Given the description of an element on the screen output the (x, y) to click on. 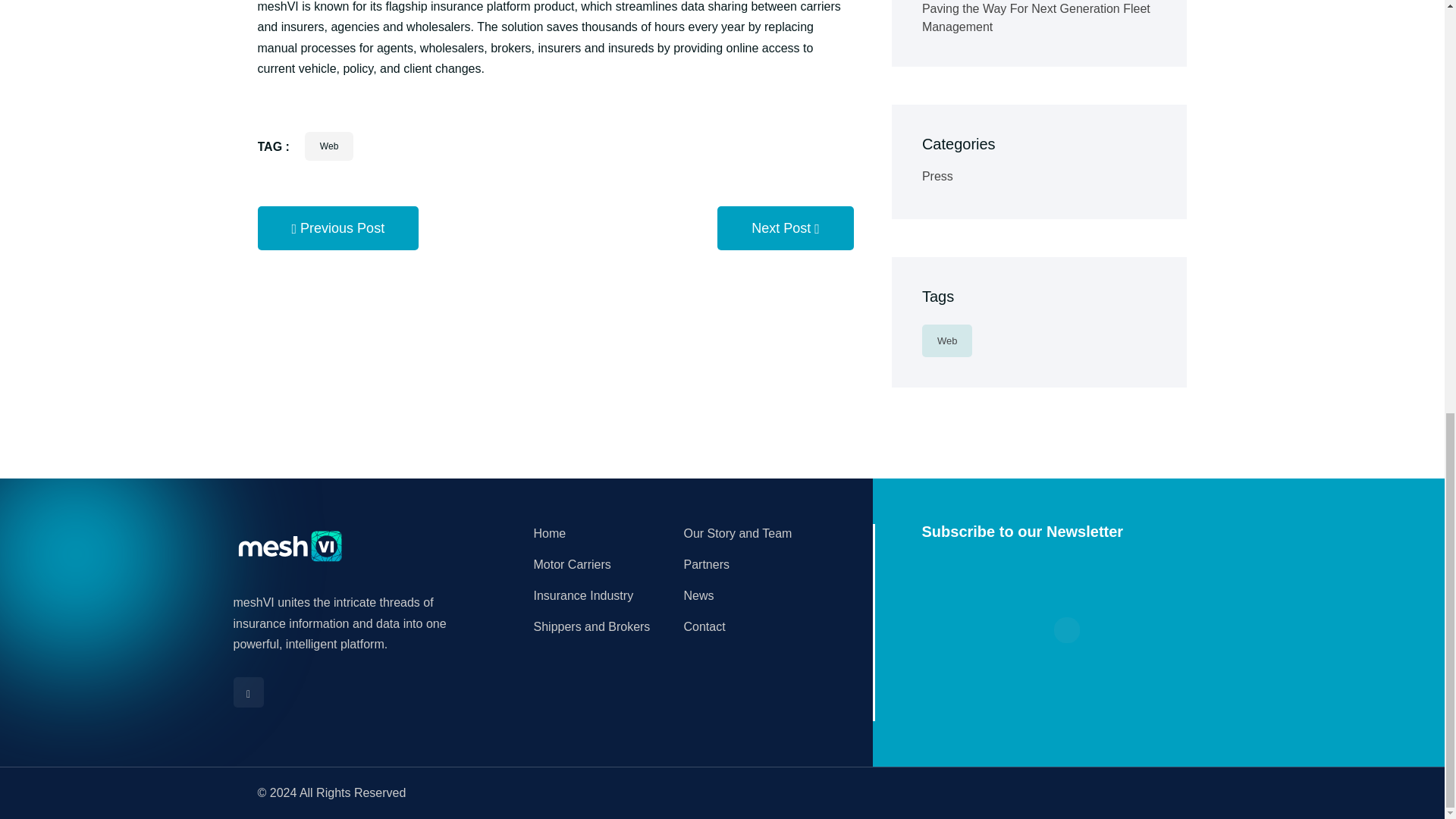
Contact (704, 626)
Insurance Industry (583, 594)
Press (937, 175)
Motor Carriers (572, 563)
Next Post (785, 228)
Shippers and Brokers (592, 626)
Home (550, 533)
Previous Post (338, 228)
News (699, 594)
